Given the description of an element on the screen output the (x, y) to click on. 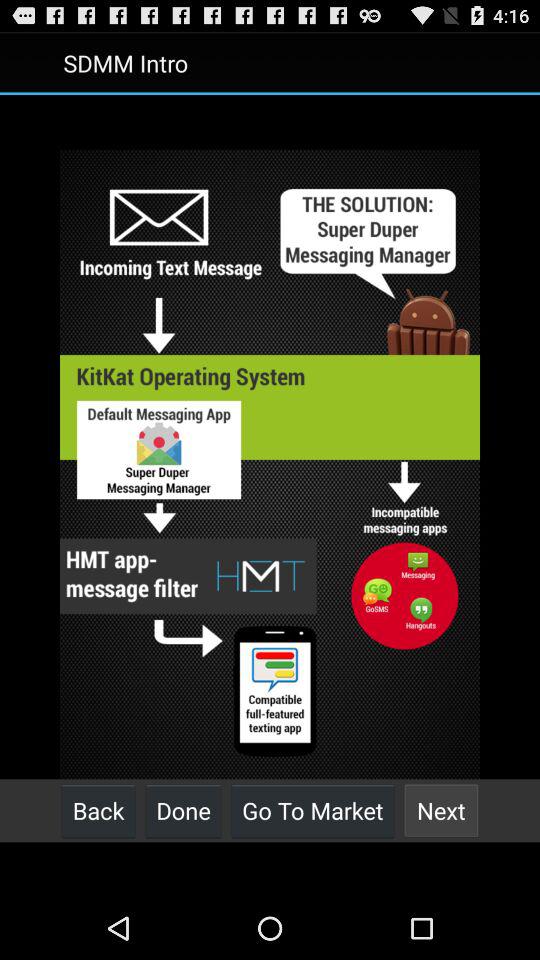
press the back at the bottom left corner (98, 810)
